Given the description of an element on the screen output the (x, y) to click on. 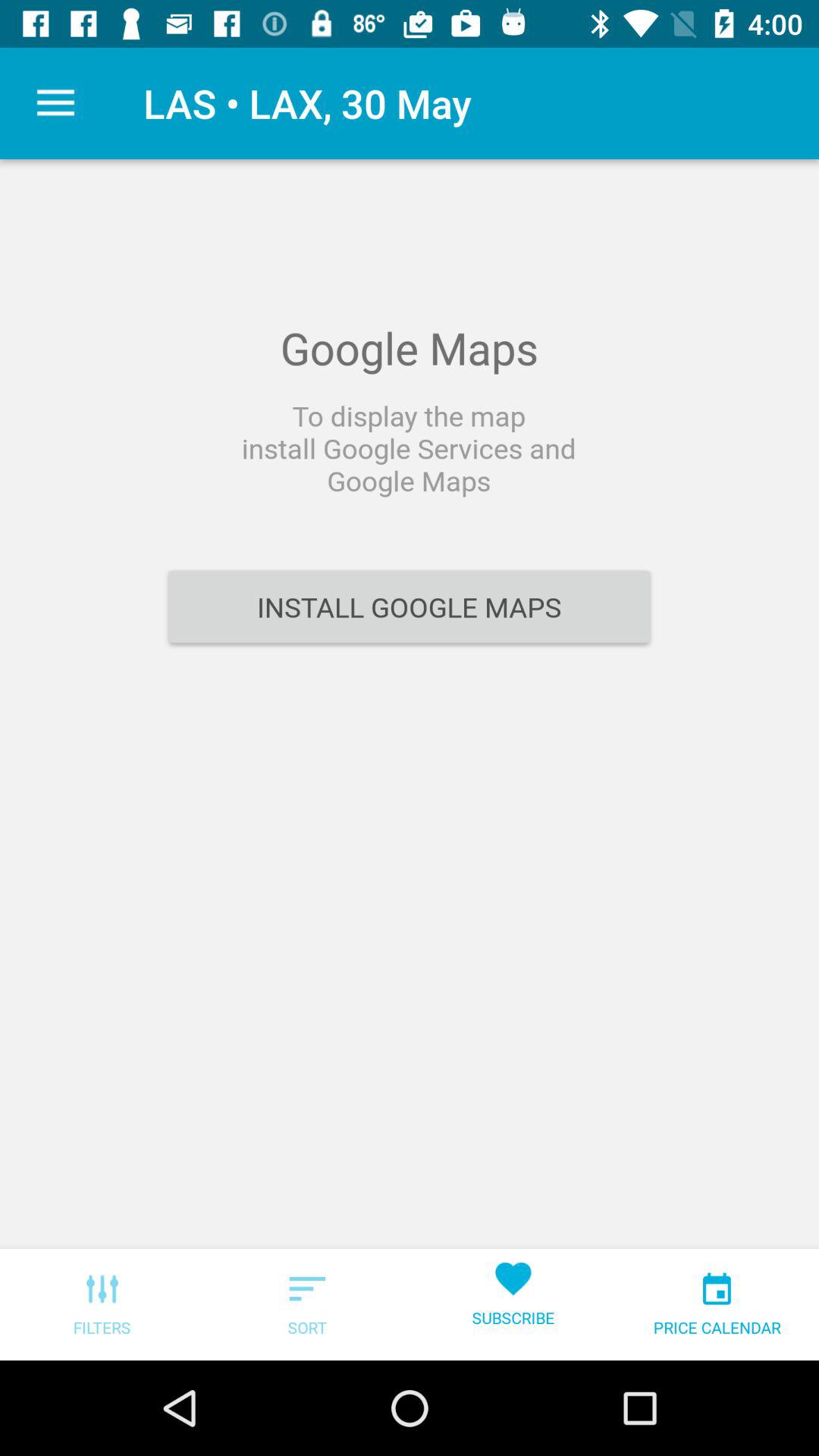
click on the first option icon in the menu bar (101, 1288)
